Given the description of an element on the screen output the (x, y) to click on. 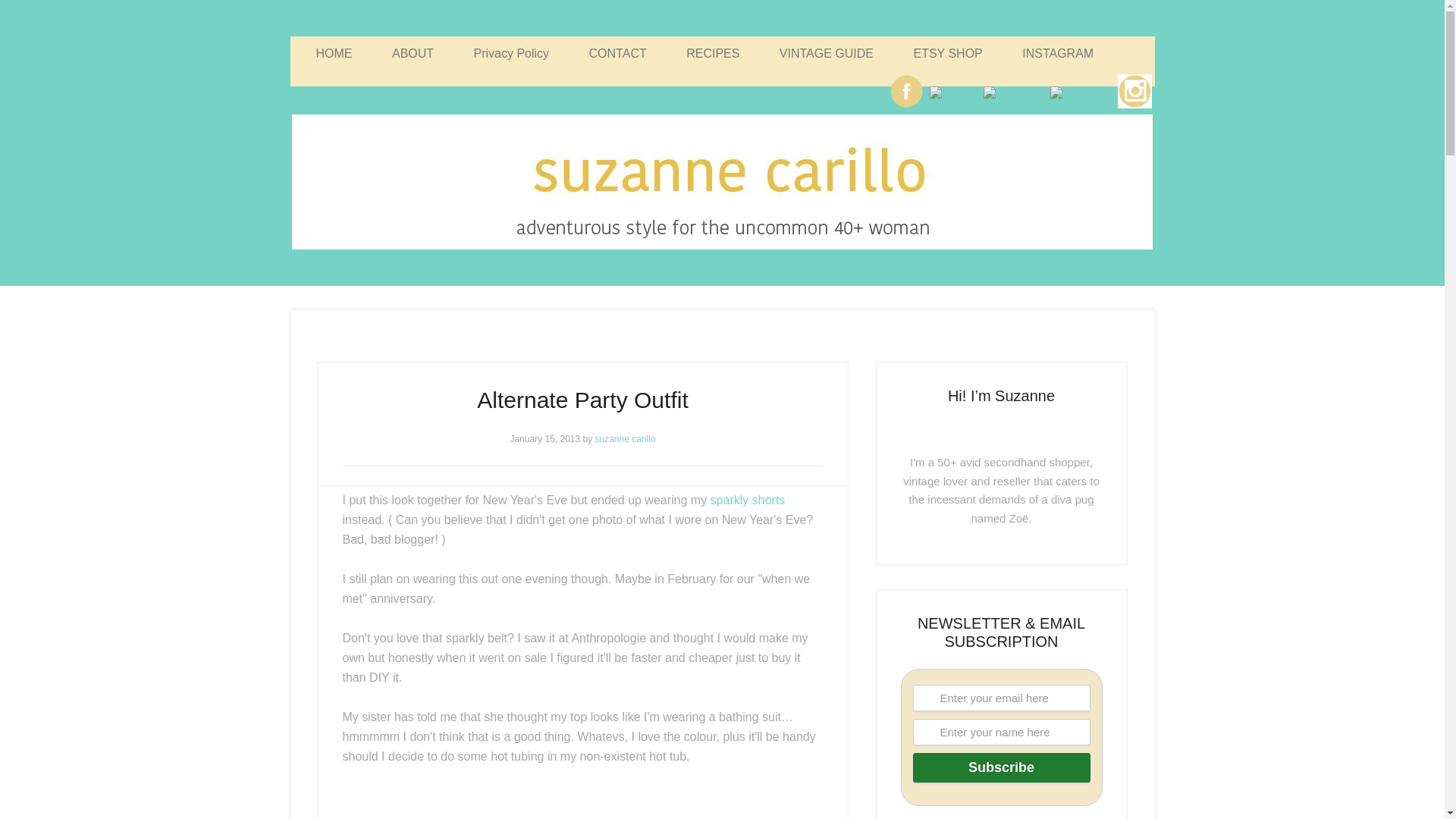
Enter your name here (1001, 732)
Twitter (953, 92)
Pinterest (1013, 92)
Facebook (906, 106)
ETSY SHOP (947, 53)
Suzanne Carillo (721, 181)
Twitter (952, 92)
Enter your email here (1001, 697)
VINTAGE GUIDE (826, 53)
Facebook (906, 91)
